Given the description of an element on the screen output the (x, y) to click on. 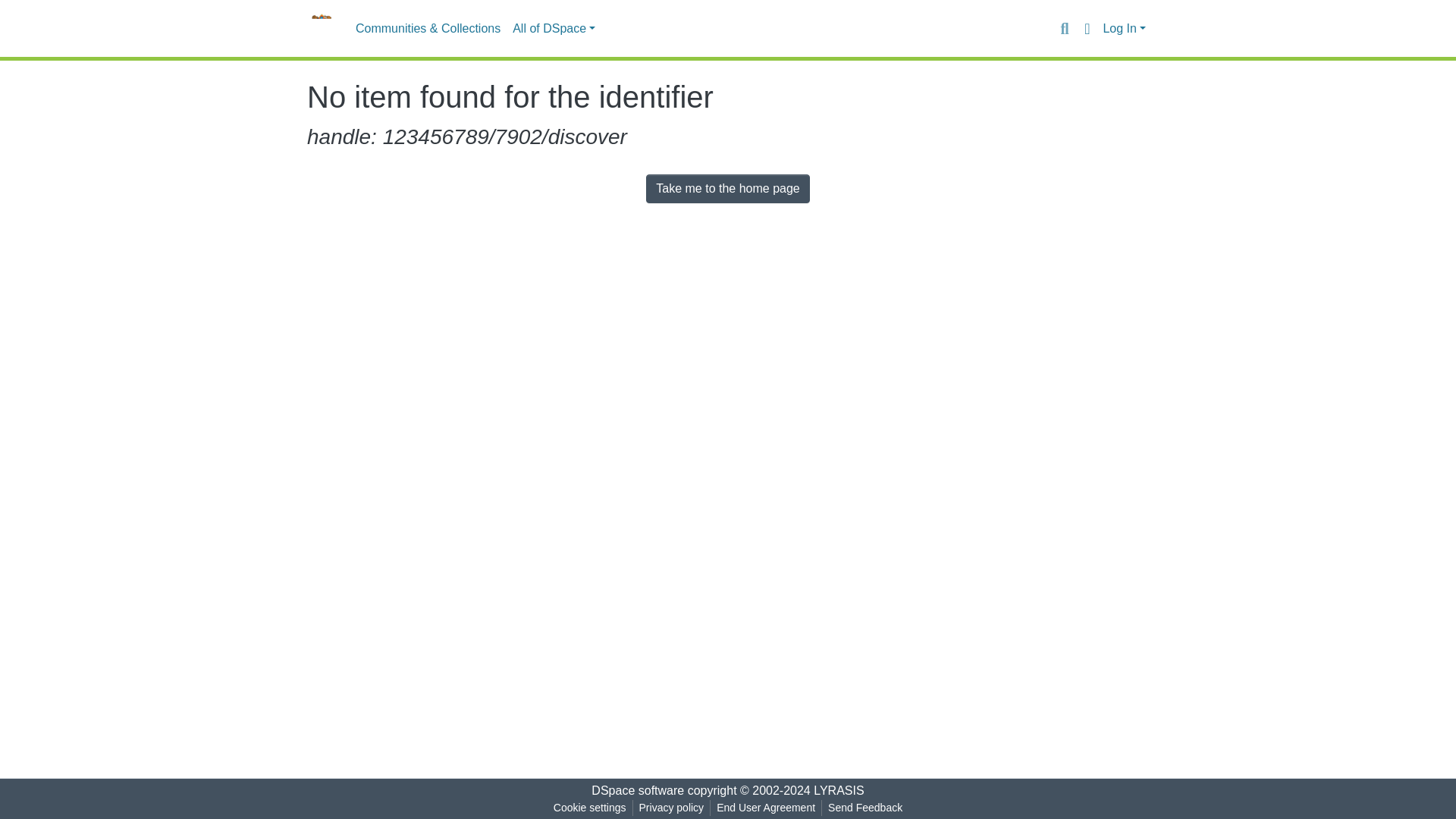
Cookie settings (589, 807)
DSpace software (637, 789)
Privacy policy (671, 807)
LYRASIS (838, 789)
Language switch (1086, 28)
Log In (1123, 28)
Search (1064, 28)
Send Feedback (865, 807)
Take me to the home page (727, 188)
End User Agreement (765, 807)
